Given the description of an element on the screen output the (x, y) to click on. 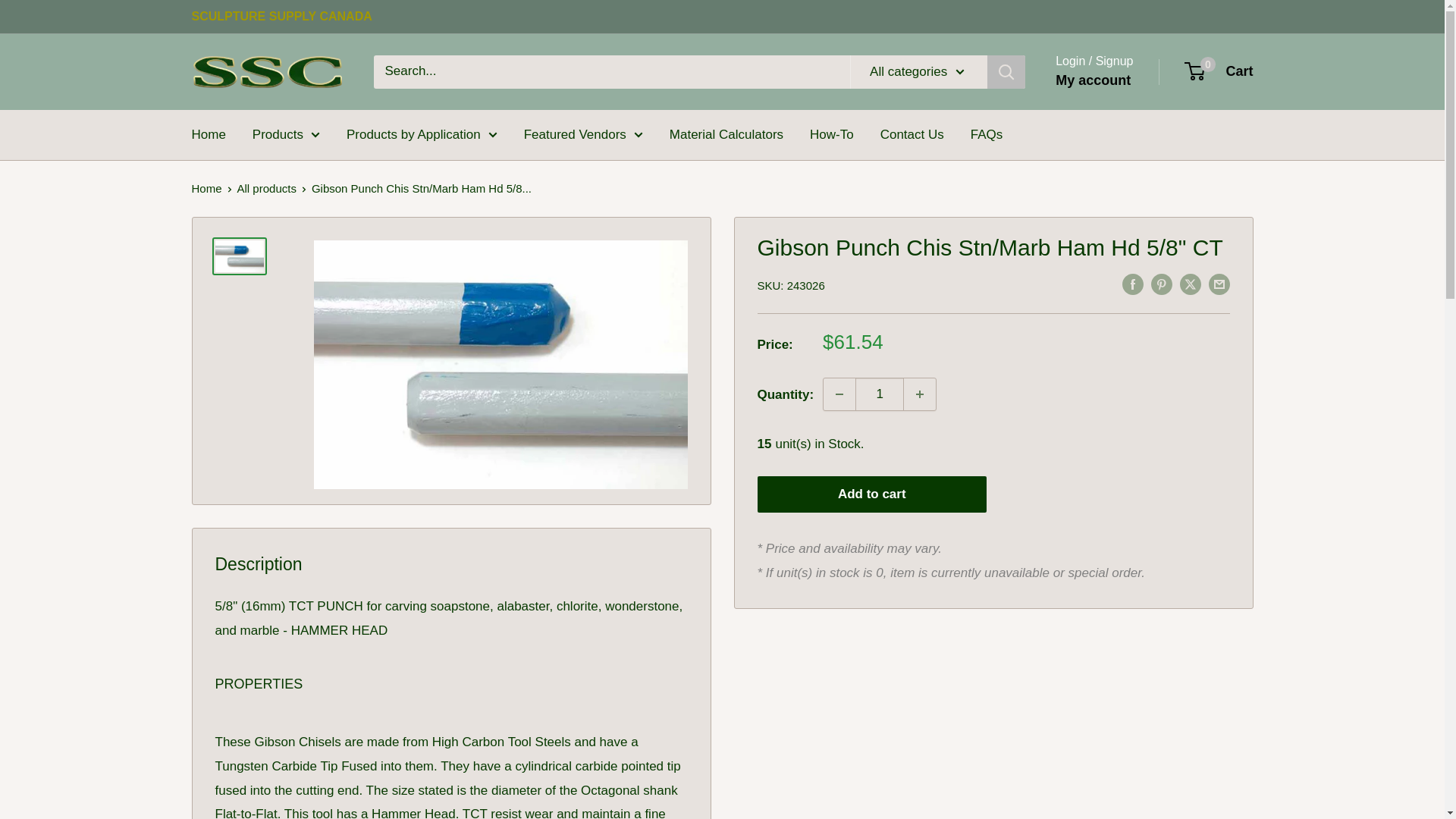
1 (880, 394)
Increase quantity by 1 (920, 394)
Decrease quantity by 1 (840, 394)
